Given the description of an element on the screen output the (x, y) to click on. 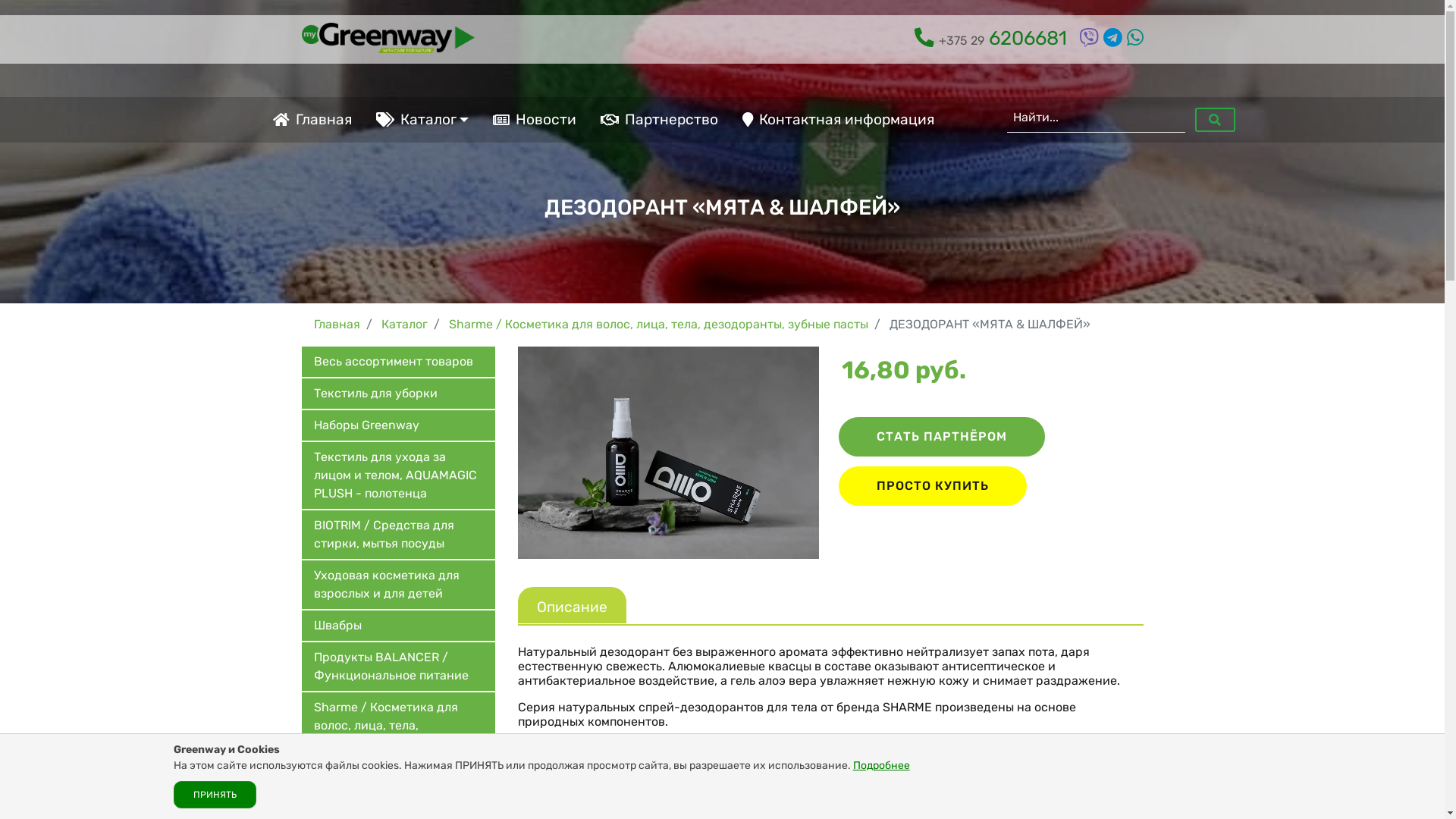
+375 29 6206681 Element type: text (993, 37)
